Given the description of an element on the screen output the (x, y) to click on. 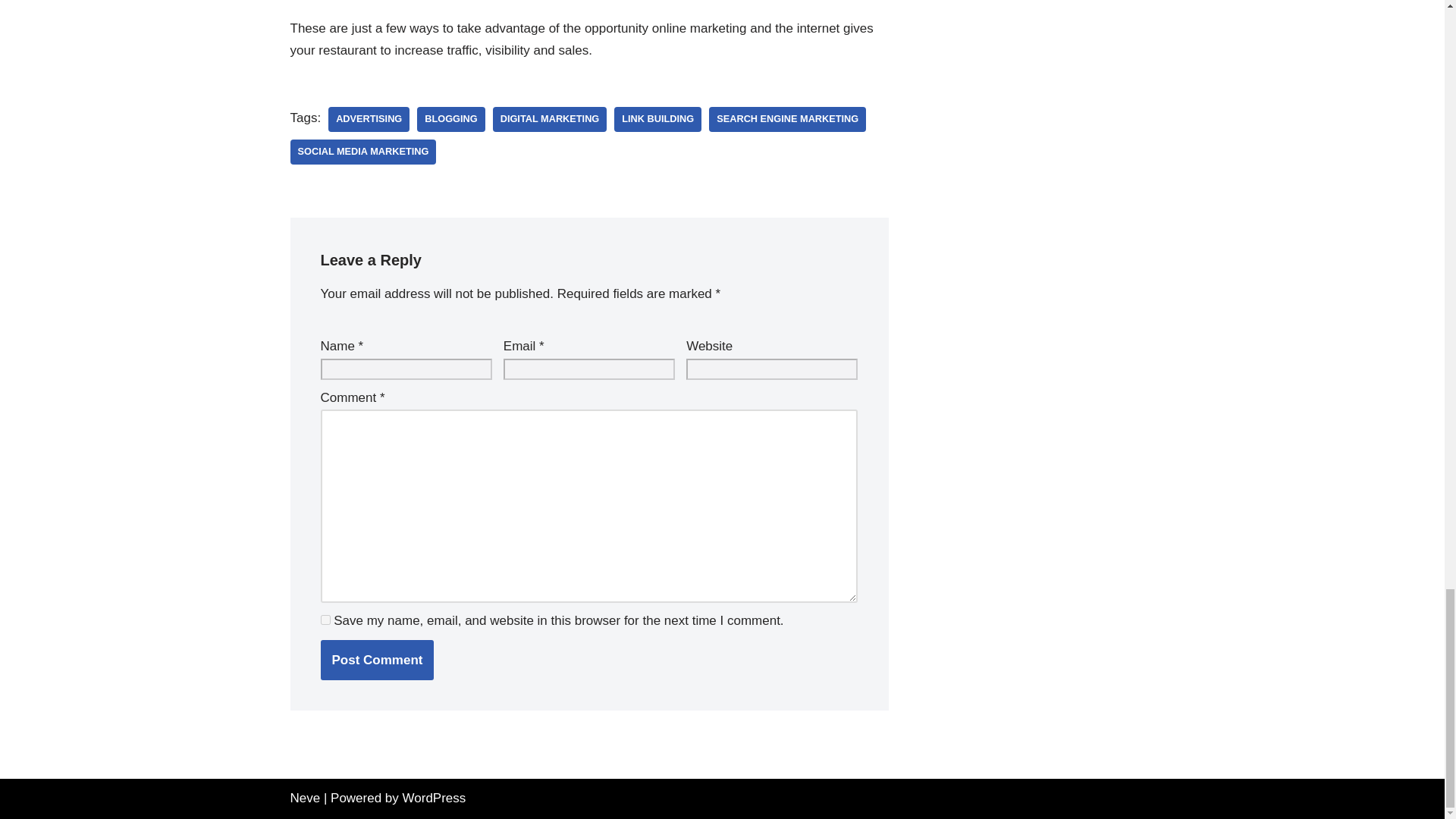
yes (325, 619)
Social Media Marketing (362, 151)
SOCIAL MEDIA MARKETING (362, 151)
Digital Marketing (550, 119)
LINK BUILDING (657, 119)
Advertising (369, 119)
DIGITAL MARKETING (550, 119)
BLOGGING (450, 119)
Blogging (450, 119)
ADVERTISING (369, 119)
Link Building (657, 119)
SEARCH ENGINE MARKETING (787, 119)
Search Engine Marketing (787, 119)
Post Comment (376, 659)
Post Comment (376, 659)
